Given the description of an element on the screen output the (x, y) to click on. 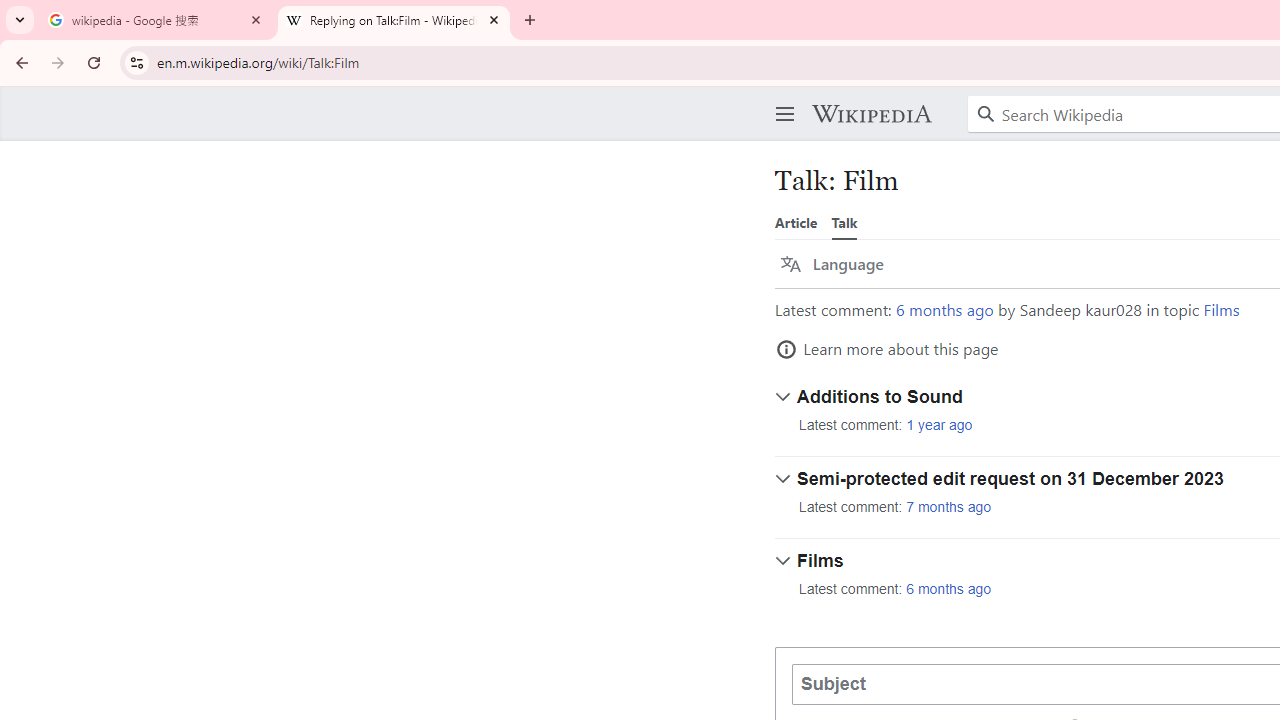
Article (795, 222)
Language (832, 264)
Wikipedia (871, 114)
Learn more about this page (887, 349)
AutomationID: main-menu-input (781, 98)
